Given the description of an element on the screen output the (x, y) to click on. 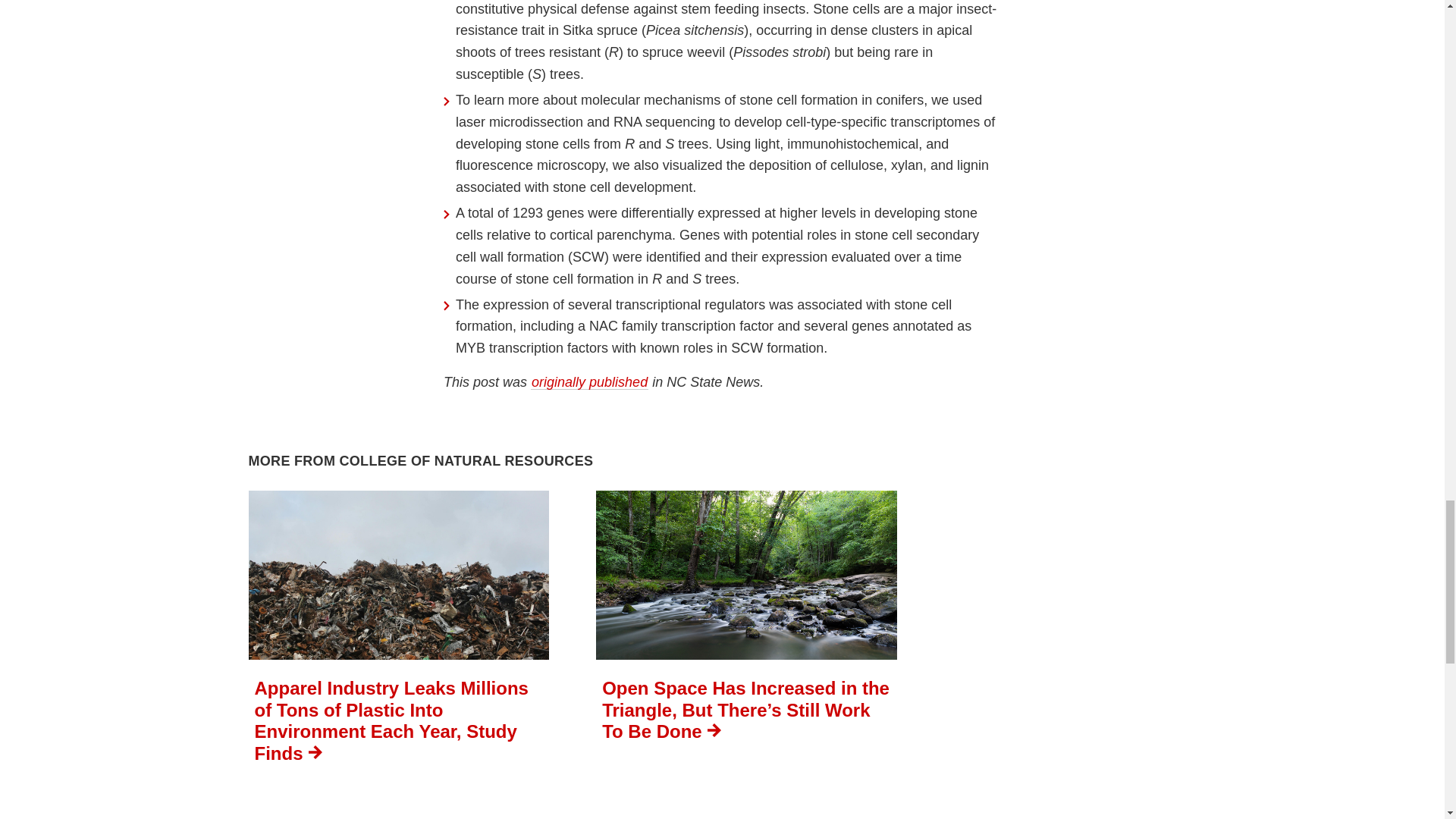
originally published (589, 381)
